Given the description of an element on the screen output the (x, y) to click on. 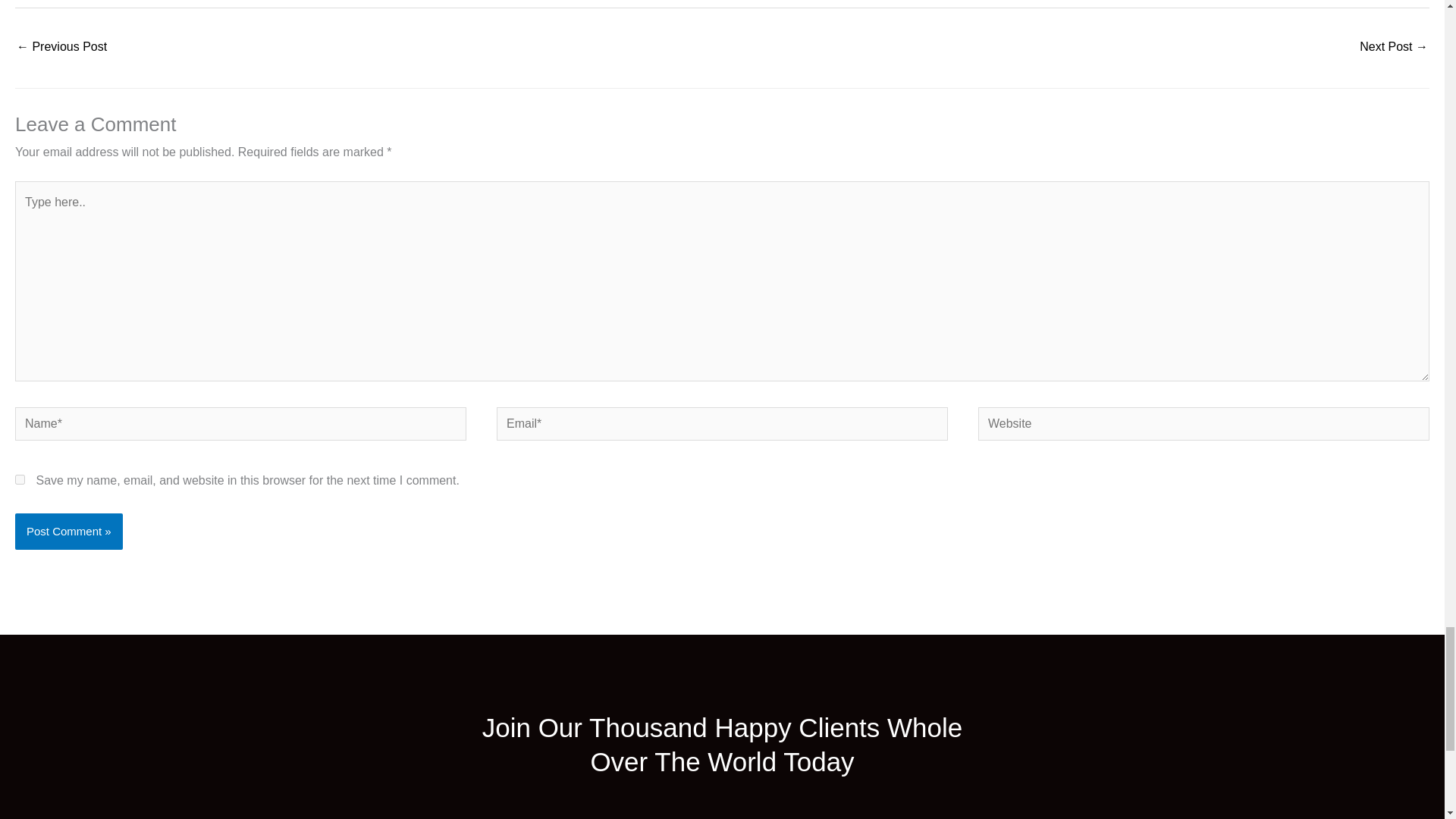
HOW TO PUT ROOTS ON SOMEONE to make them love you (61, 48)
Powerful Love Spells in Sweden (1393, 48)
yes (19, 479)
